Given the description of an element on the screen output the (x, y) to click on. 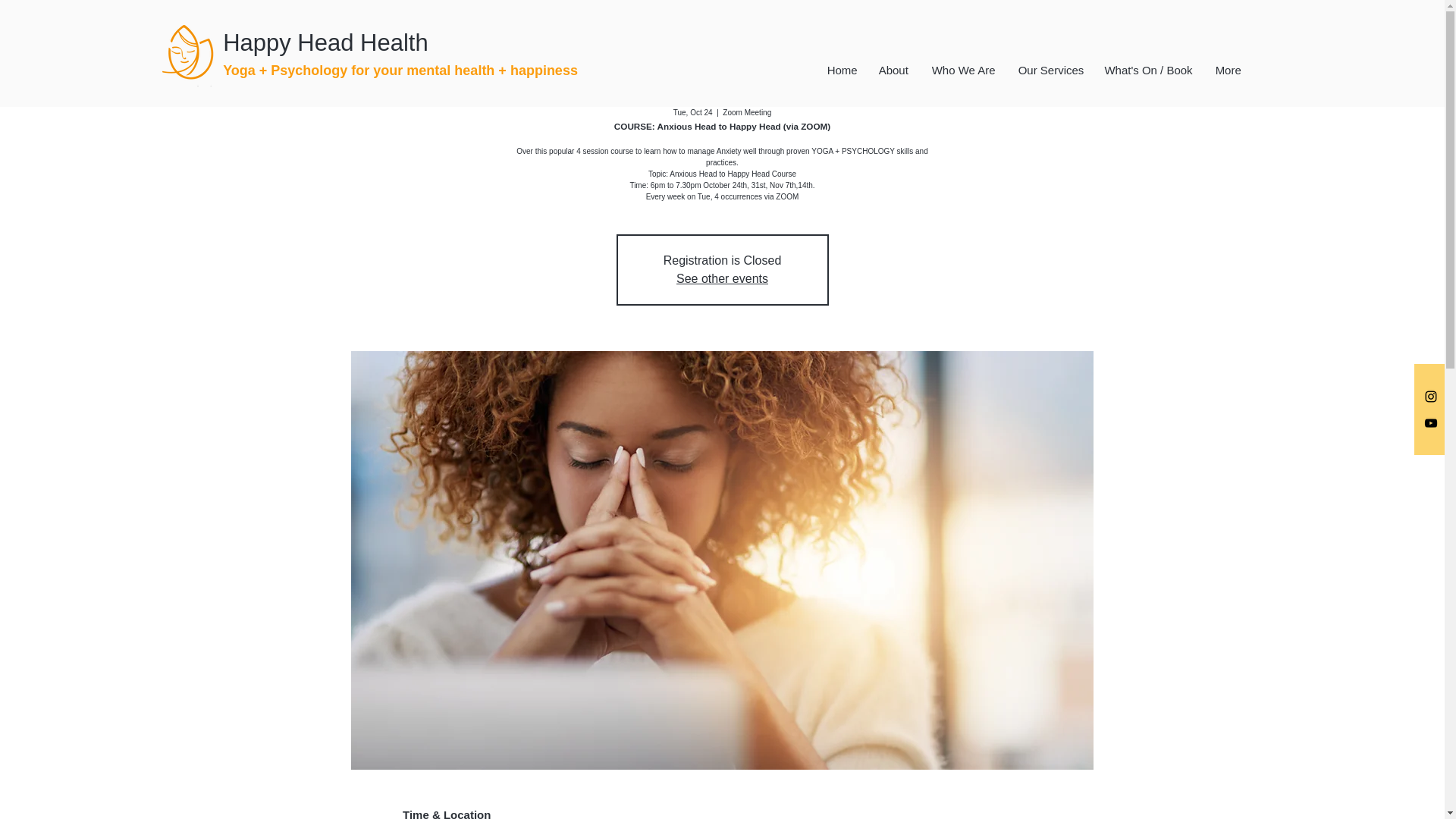
Who We Are (962, 70)
Home (841, 70)
See other events (722, 278)
Happy Head Health (363, 43)
Our Services (1048, 70)
